Given the description of an element on the screen output the (x, y) to click on. 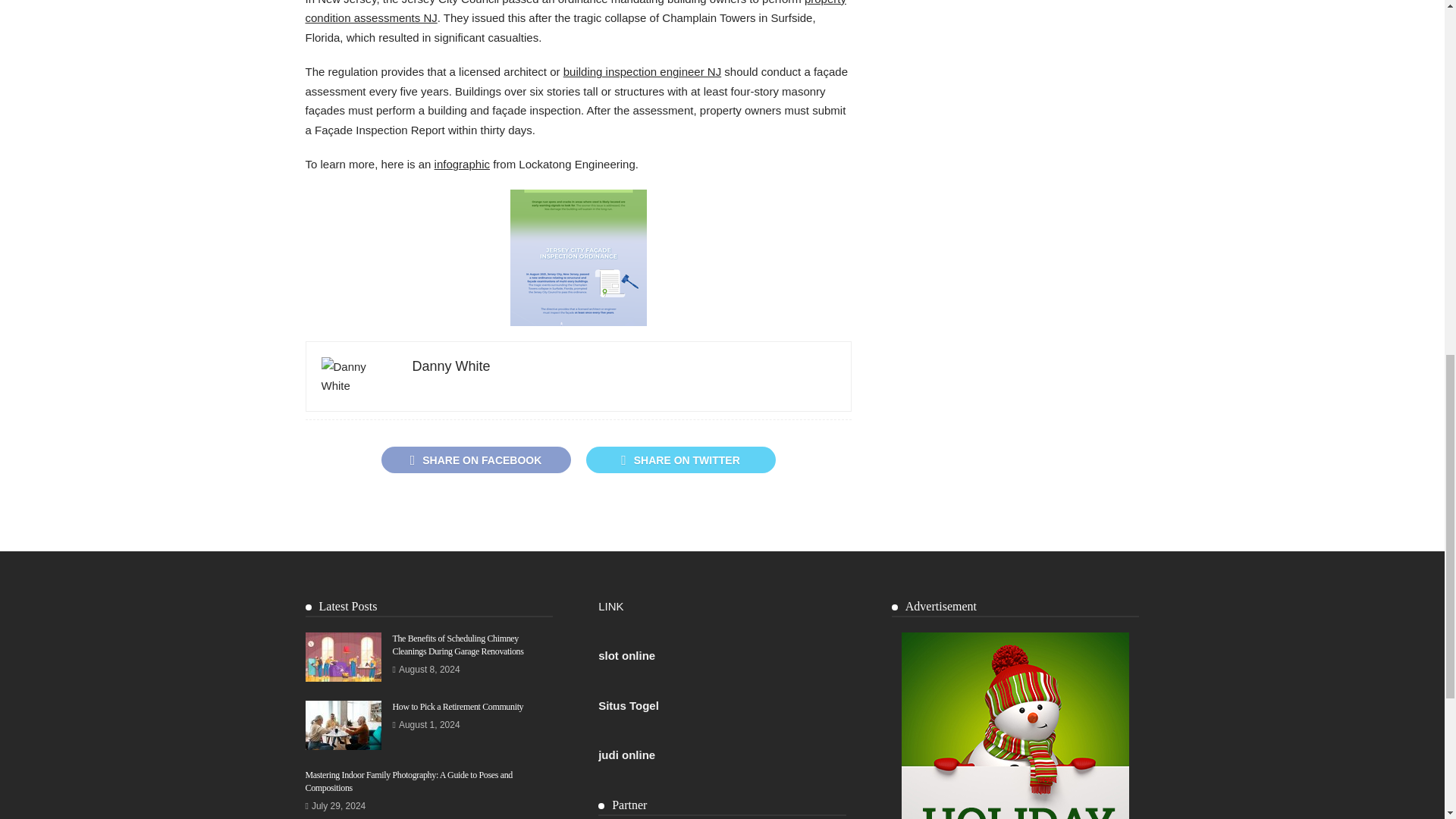
How to Pick a Retirement Community (342, 725)
How to Pick a Retirement Community (458, 706)
